Given the description of an element on the screen output the (x, y) to click on. 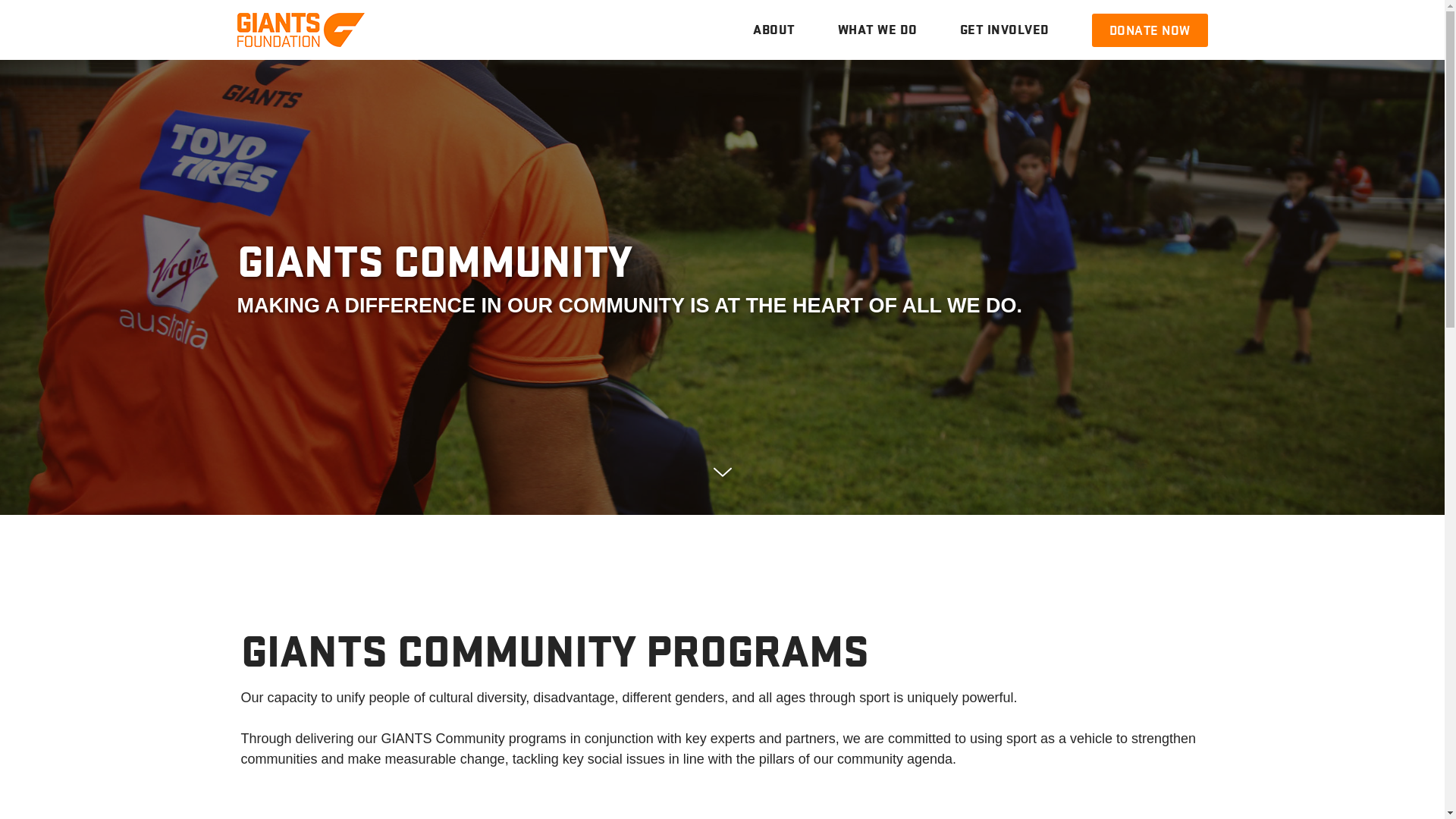
ABOUT Element type: text (773, 29)
GET INVOLVED Element type: text (993, 29)
WHAT WE DO Element type: text (876, 29)
DONATE NOW Element type: text (1150, 30)
